Given the description of an element on the screen output the (x, y) to click on. 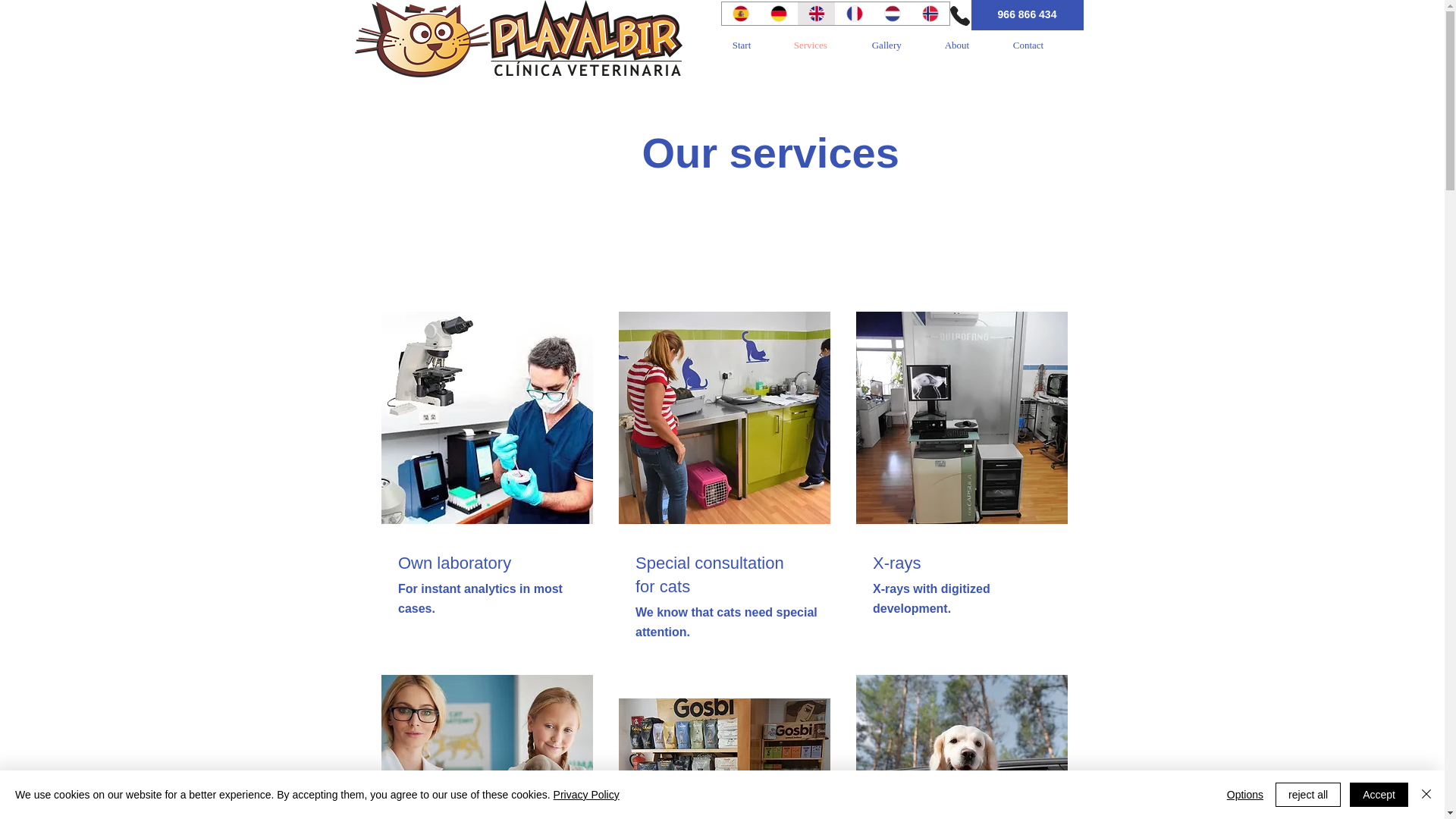
966 866 434 (1027, 15)
Start (751, 45)
Privacy Policy (586, 794)
reject all (1307, 794)
Services (821, 45)
Gallery (896, 45)
About (967, 45)
Contact (1039, 45)
Accept (1378, 794)
